Given the description of an element on the screen output the (x, y) to click on. 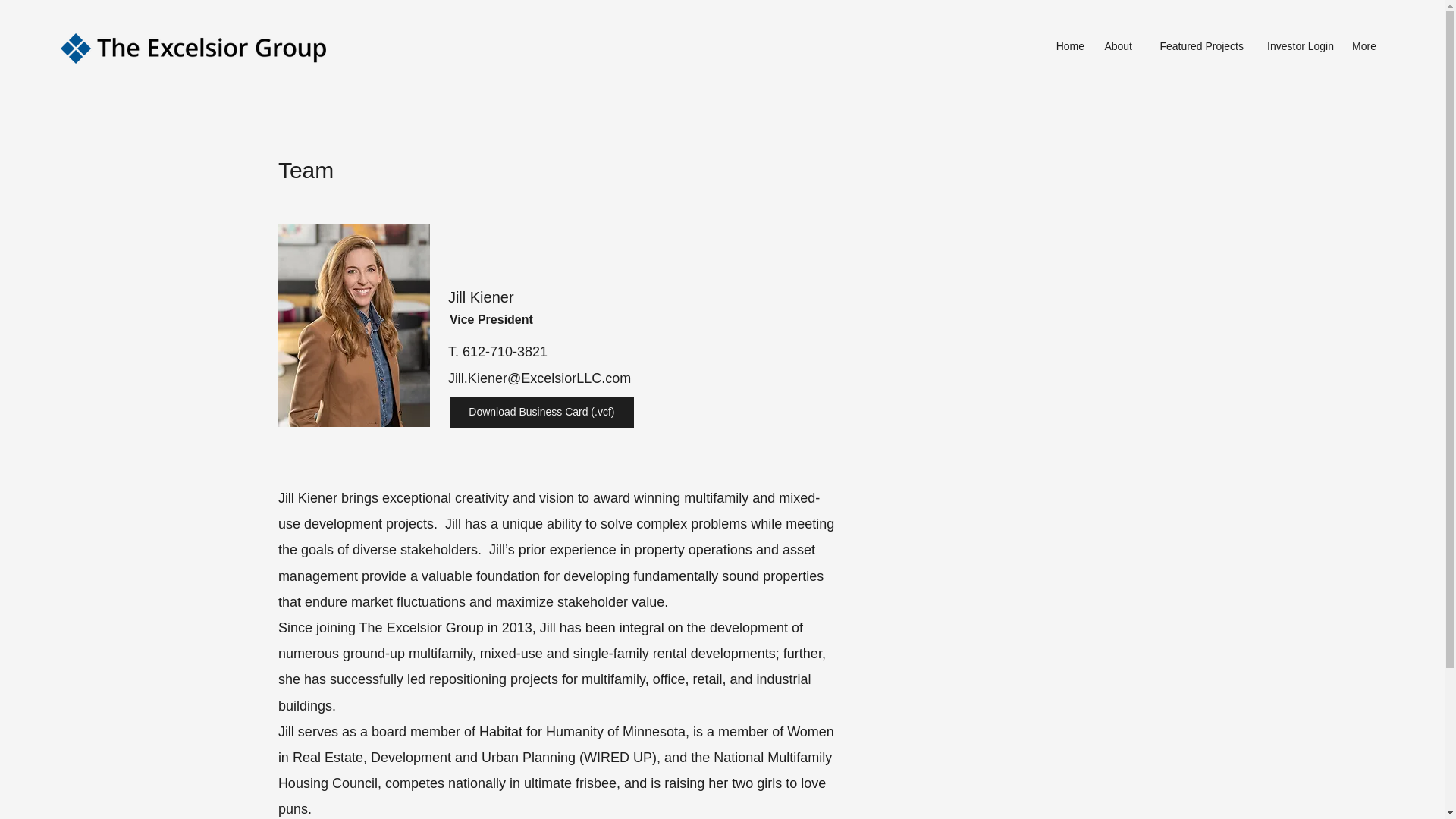
Investor Login (1295, 46)
About (1116, 46)
Featured Projects (1195, 46)
Home (1067, 46)
